Given the description of an element on the screen output the (x, y) to click on. 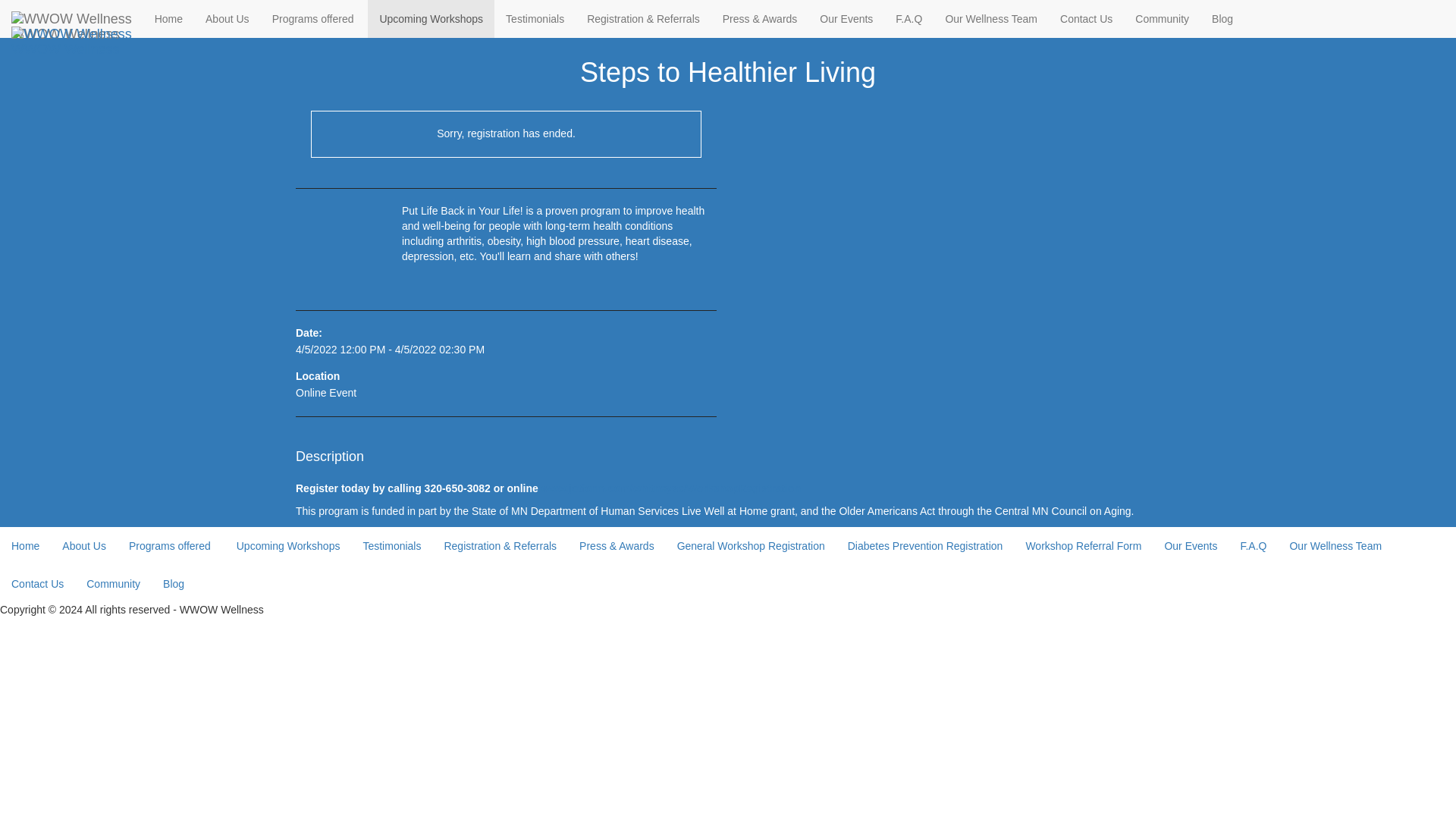
Contact Us (1086, 18)
Testimonials (391, 546)
Programs offered  (171, 546)
Community (1161, 18)
Home (25, 546)
F.A.Q (908, 18)
WWOW Wellness (71, 34)
Testimonials (535, 18)
Home (167, 18)
General Workshop Registration (750, 546)
Upcoming Workshops (288, 546)
Upcoming Workshops (431, 18)
Programs offered  (314, 18)
Our Wellness Team (990, 18)
About Us (83, 546)
